Given the description of an element on the screen output the (x, y) to click on. 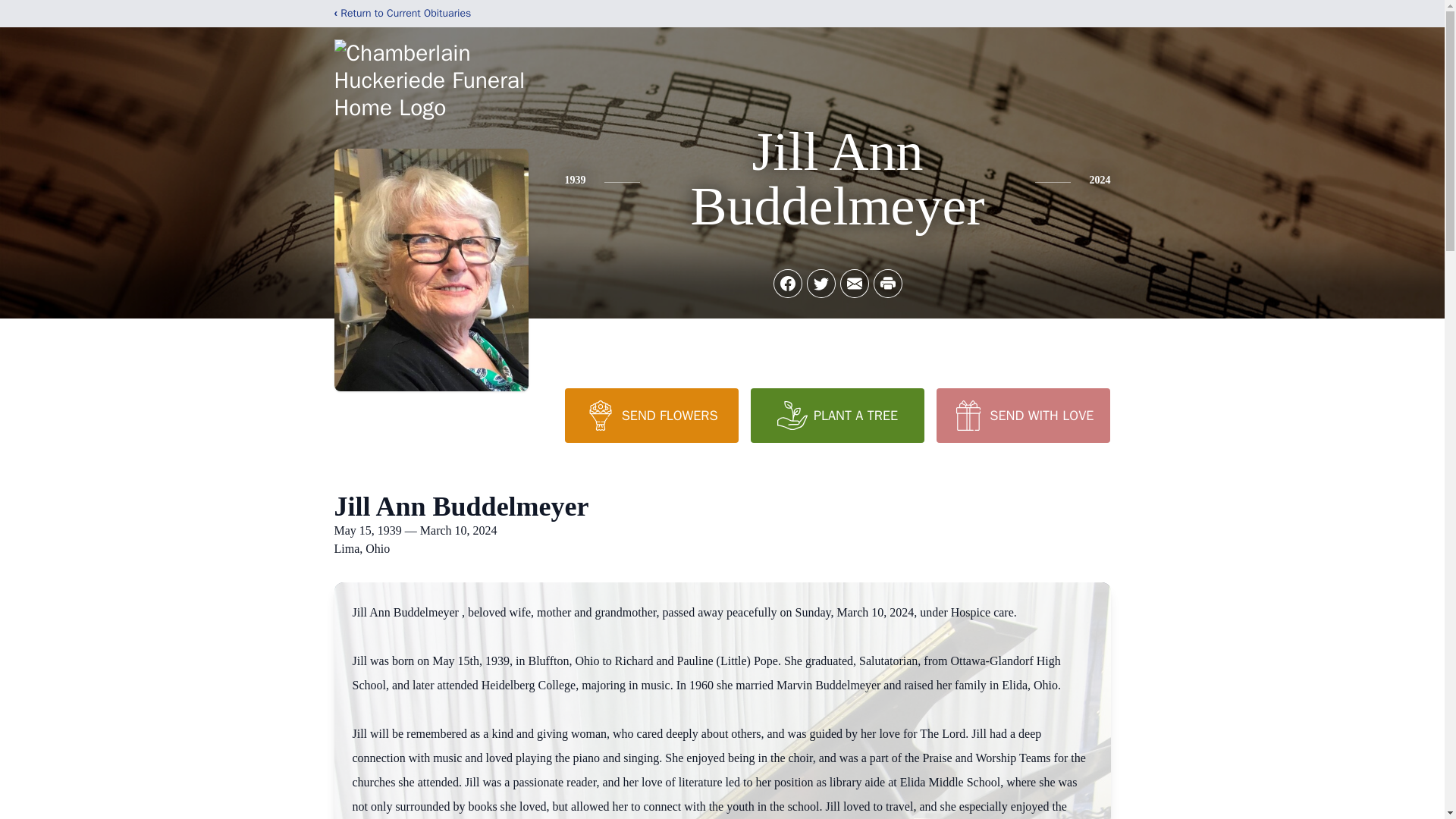
PLANT A TREE (837, 415)
SEND FLOWERS (651, 415)
SEND WITH LOVE (1022, 415)
